Given the description of an element on the screen output the (x, y) to click on. 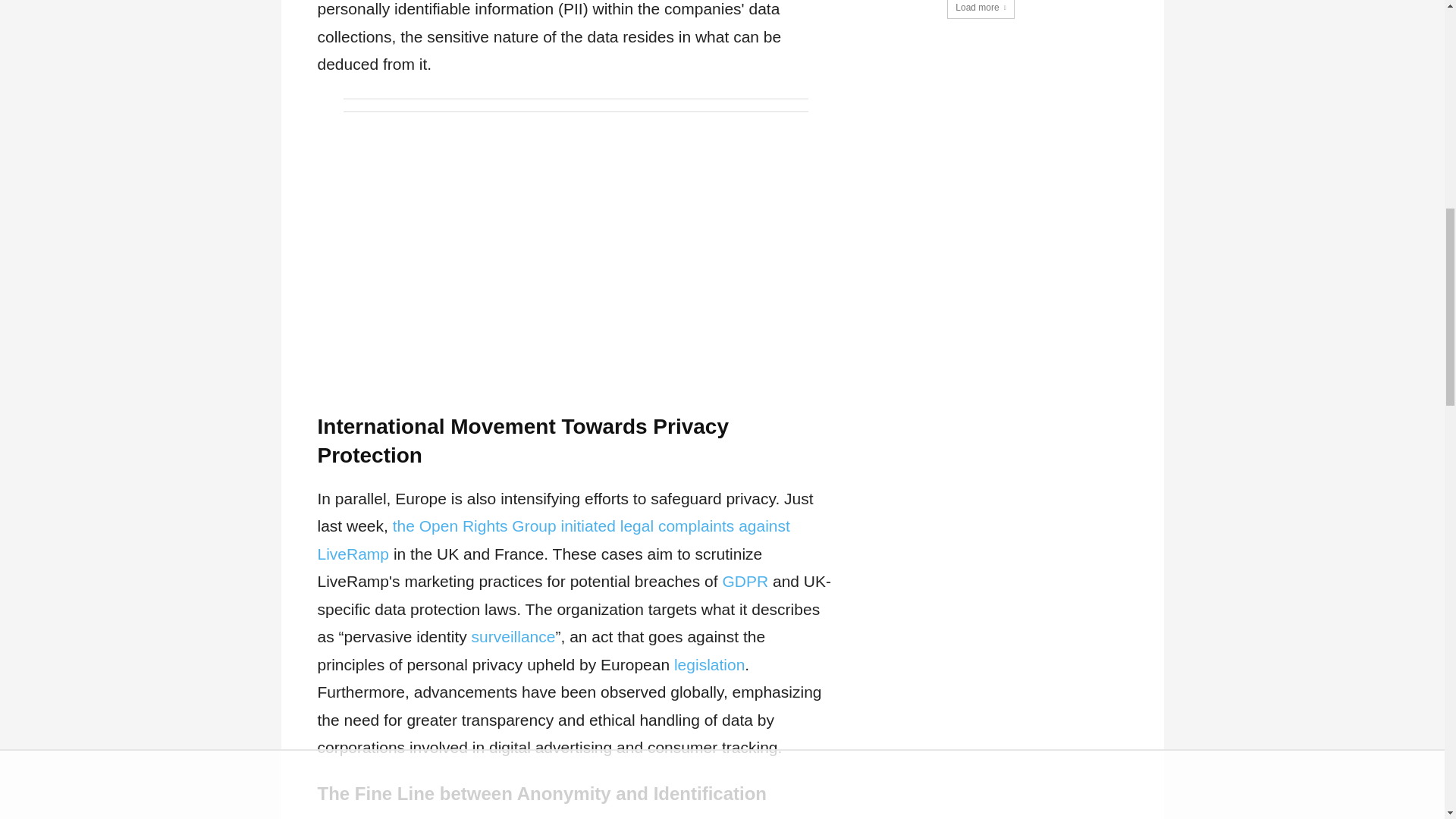
Posts tagged with Surveillance (513, 636)
Posts tagged with Legislation (709, 664)
